Given the description of an element on the screen output the (x, y) to click on. 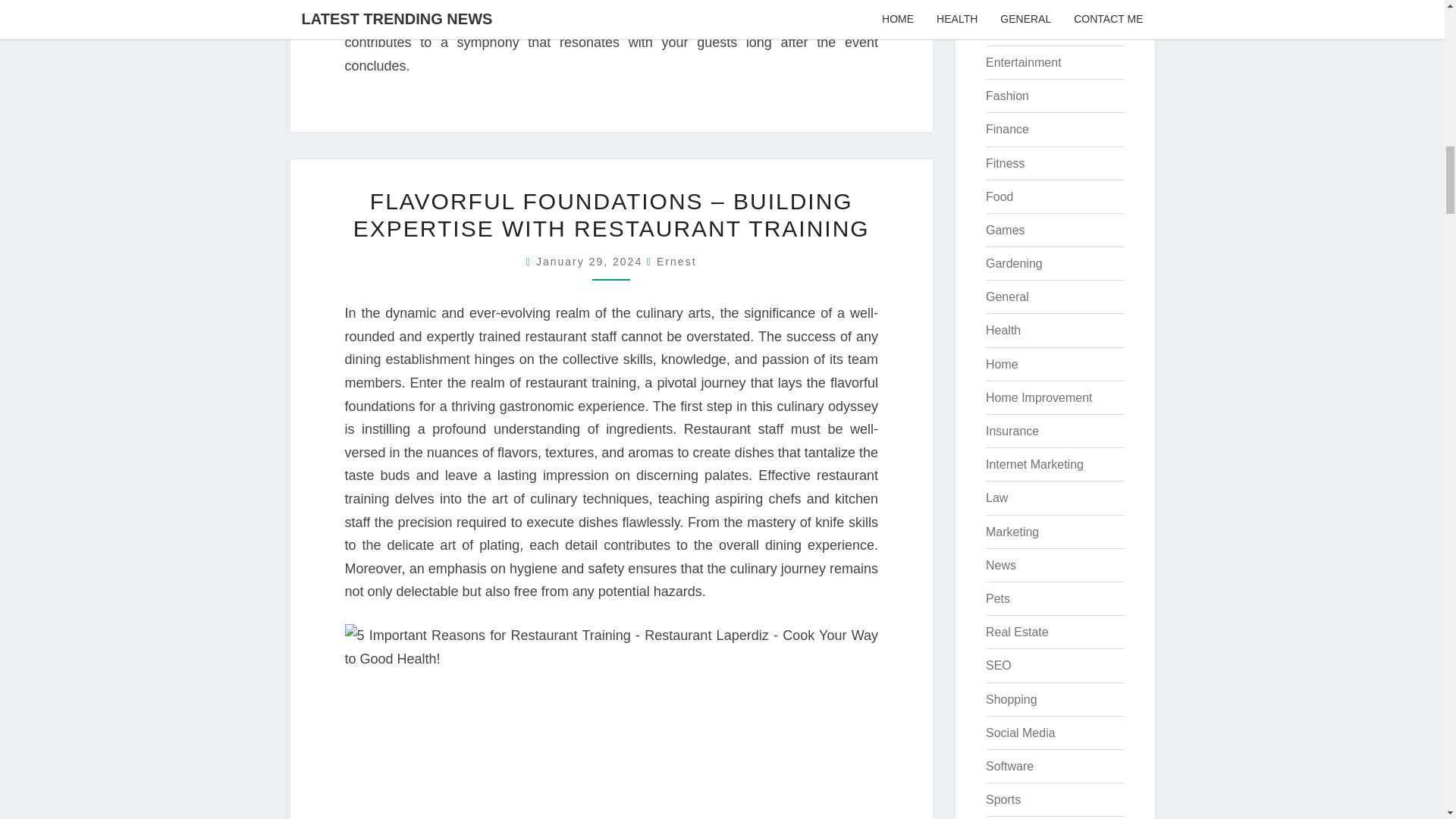
Ernest (675, 261)
10:24 am (590, 261)
View all posts by Ernest (675, 261)
January 29, 2024 (590, 261)
